Given the description of an element on the screen output the (x, y) to click on. 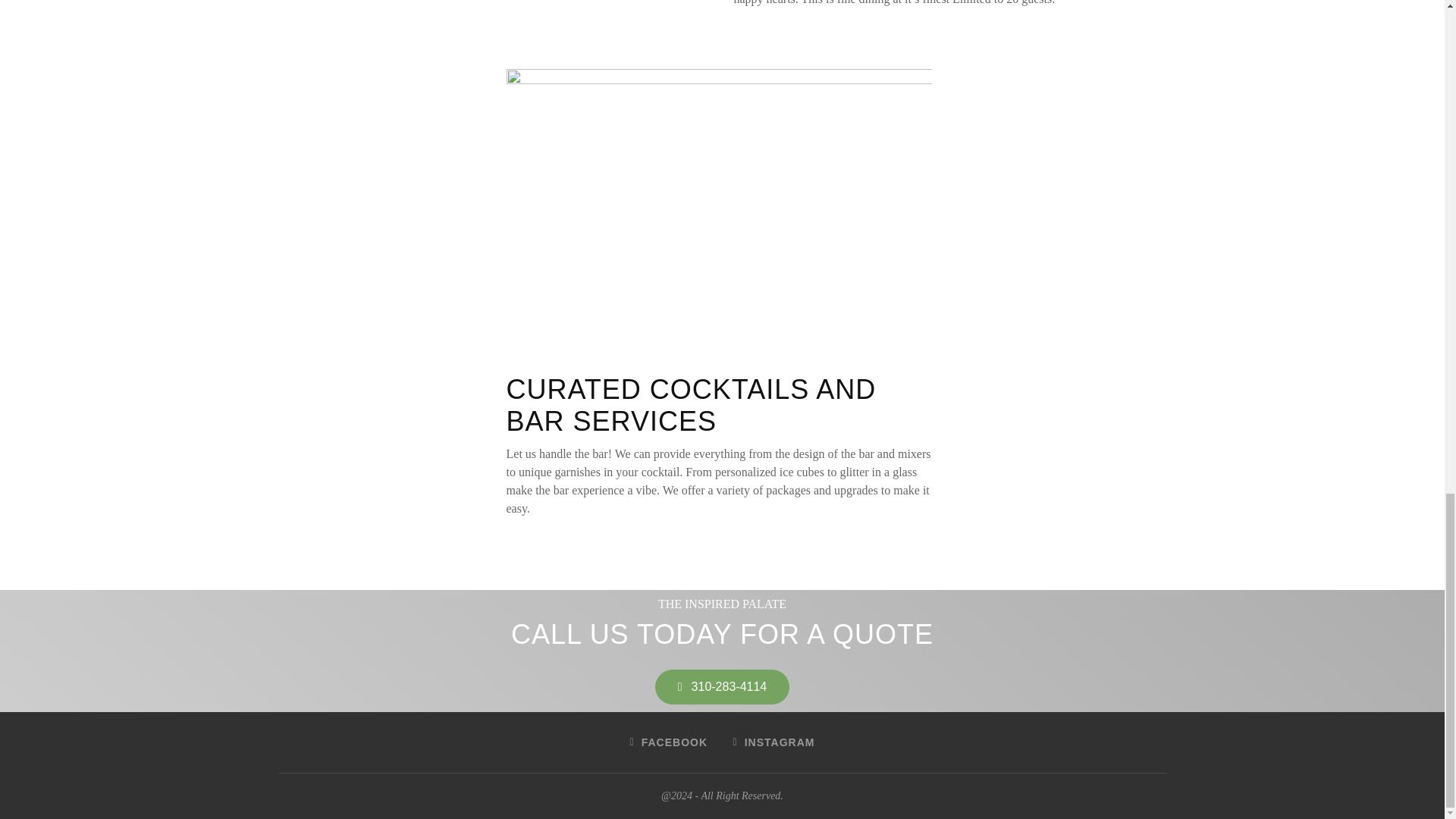
FACEBOOK (668, 742)
INSTAGRAM (774, 742)
310-283-4114 (722, 686)
